Given the description of an element on the screen output the (x, y) to click on. 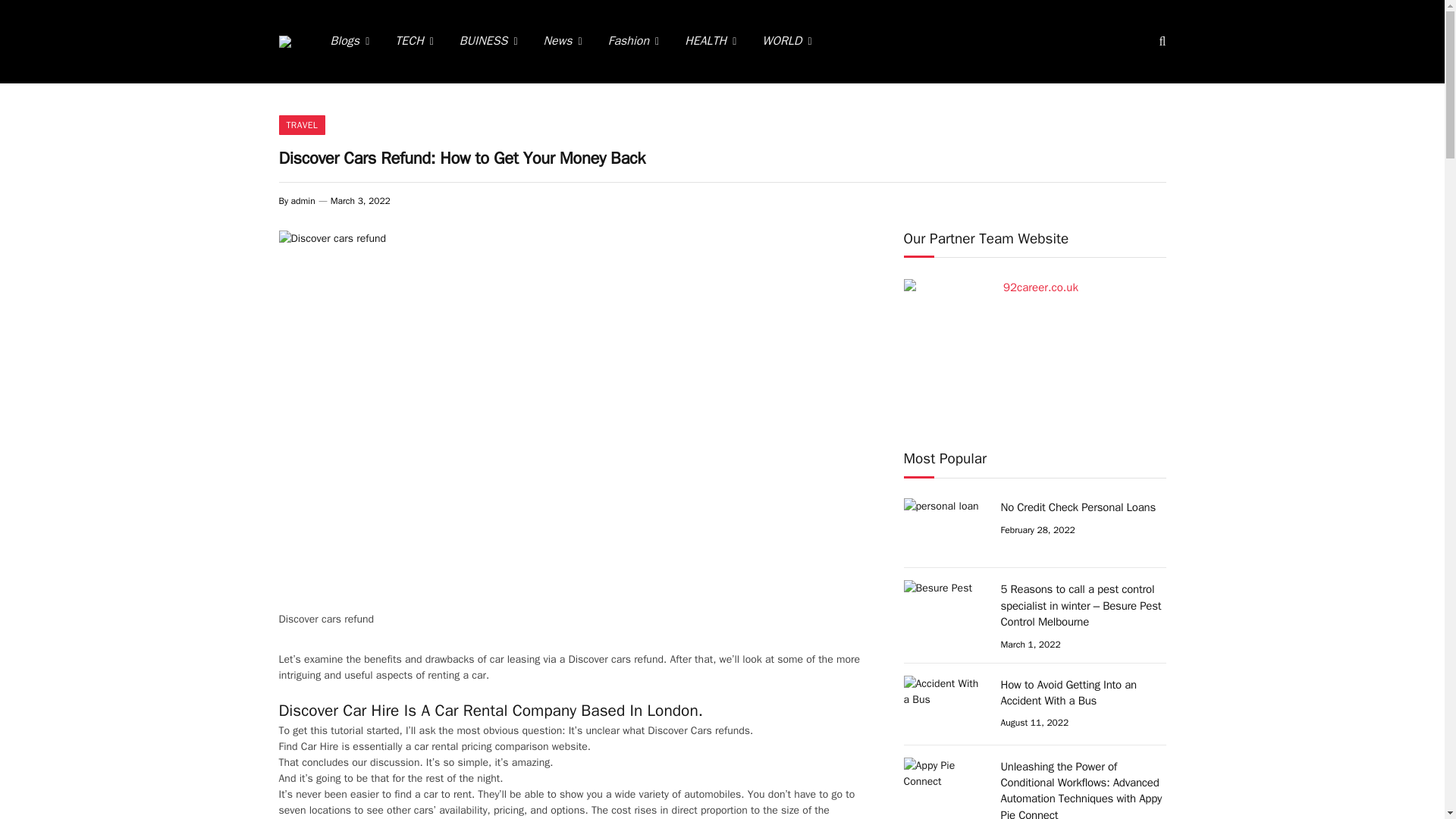
City Magazine Tech, business, lifestyle, health (285, 41)
TECH (413, 41)
Blogs (349, 41)
BUINESS (488, 41)
News (563, 41)
